Given the description of an element on the screen output the (x, y) to click on. 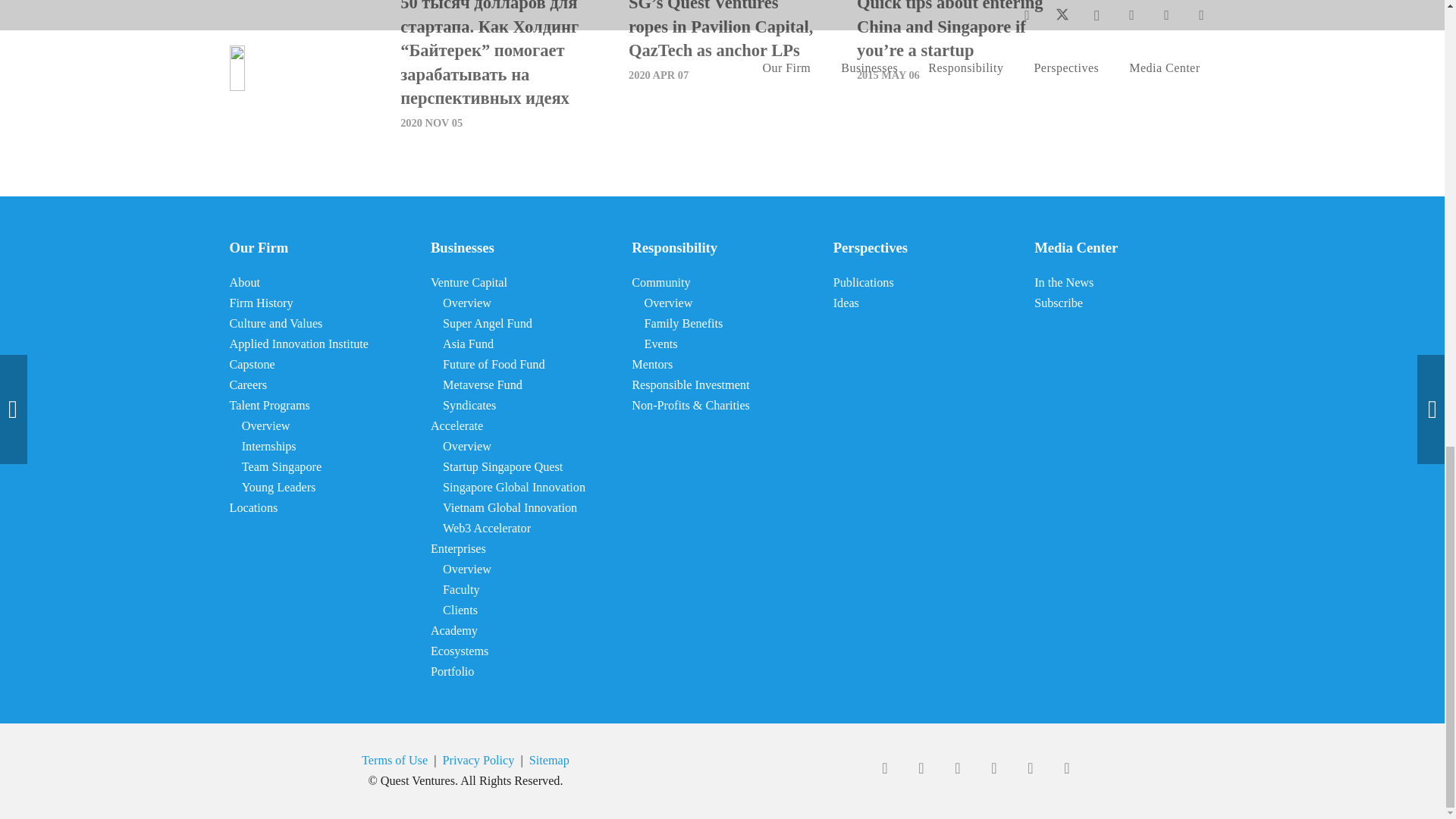
Contact (1066, 767)
Instagram (957, 767)
Twitter (920, 767)
Spotify (993, 767)
Newsletter (1029, 767)
LinkedIn (884, 767)
